Given the description of an element on the screen output the (x, y) to click on. 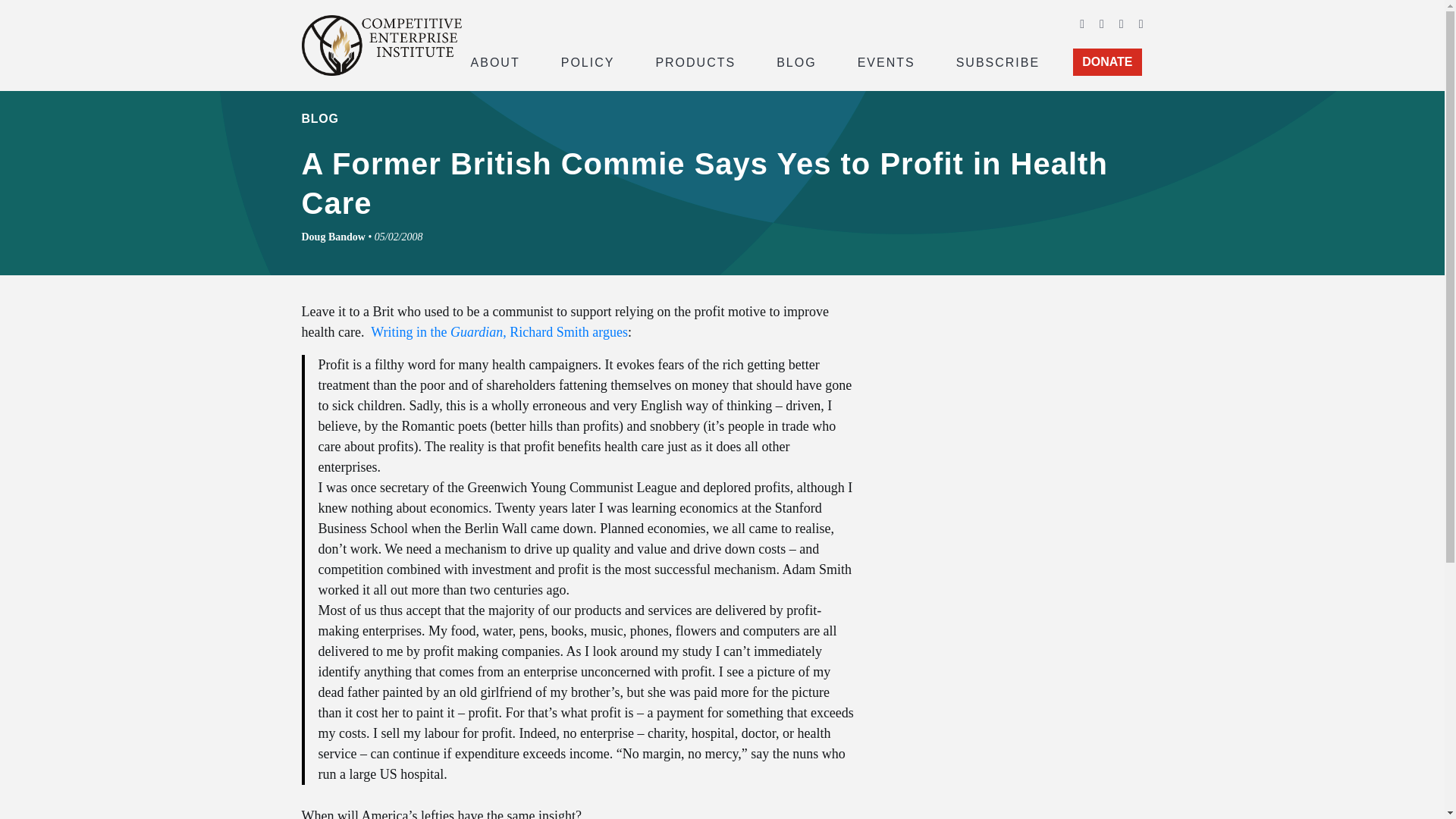
POLICY (588, 61)
ABOUT (495, 61)
SUBSCRIBE (997, 61)
DONATE (1107, 62)
EVENTS (886, 61)
BLOG (796, 61)
PRODUCTS (694, 61)
